Given the description of an element on the screen output the (x, y) to click on. 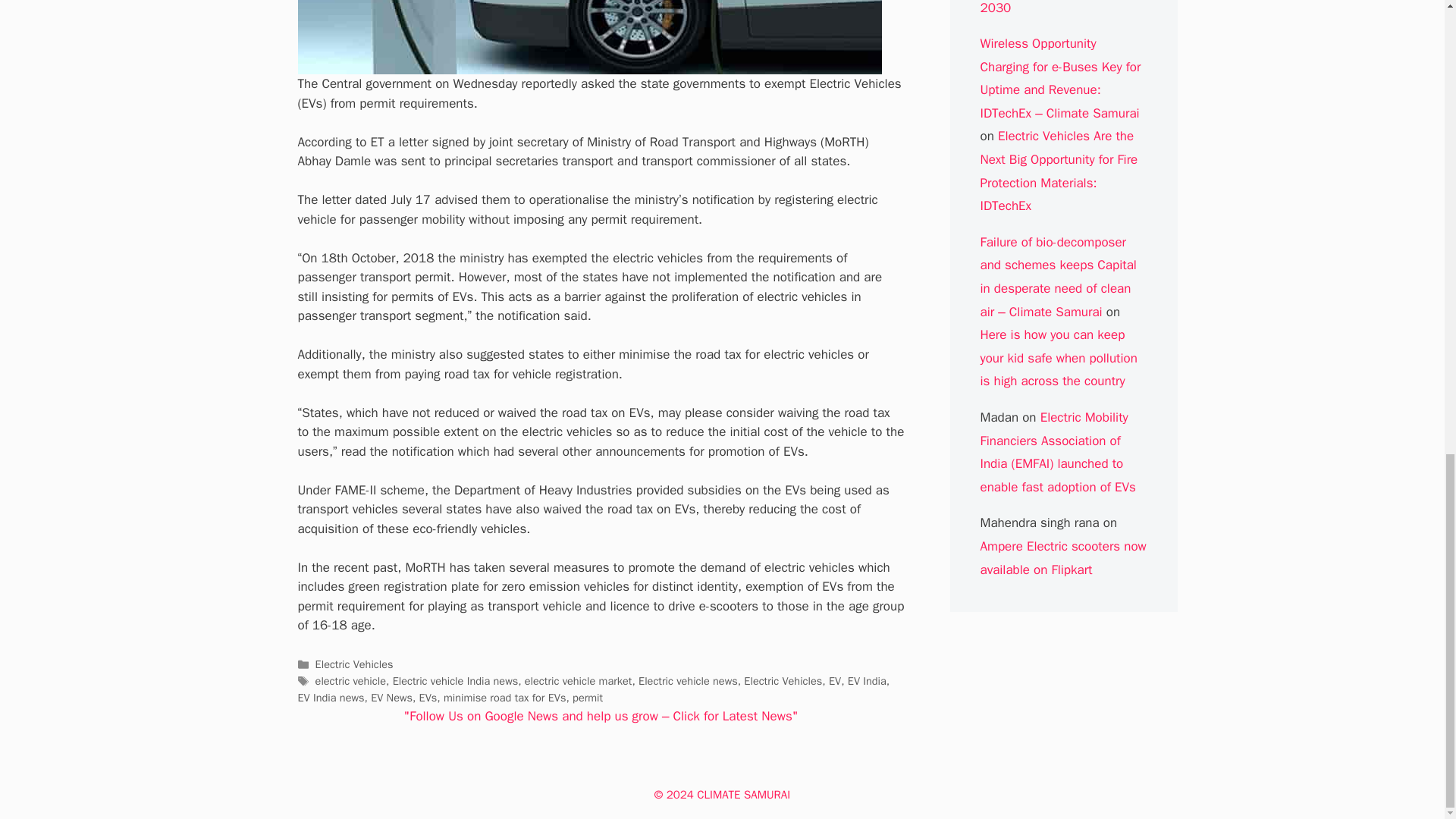
EV India news (330, 697)
Electric vehicle India news (455, 680)
EV News (391, 697)
Electric Vehicles (354, 663)
Electric Vehicles (783, 680)
electric vehicle market (577, 680)
EV India (866, 680)
Electric vehicle news (688, 680)
EV (834, 680)
electric vehicle (350, 680)
